Given the description of an element on the screen output the (x, y) to click on. 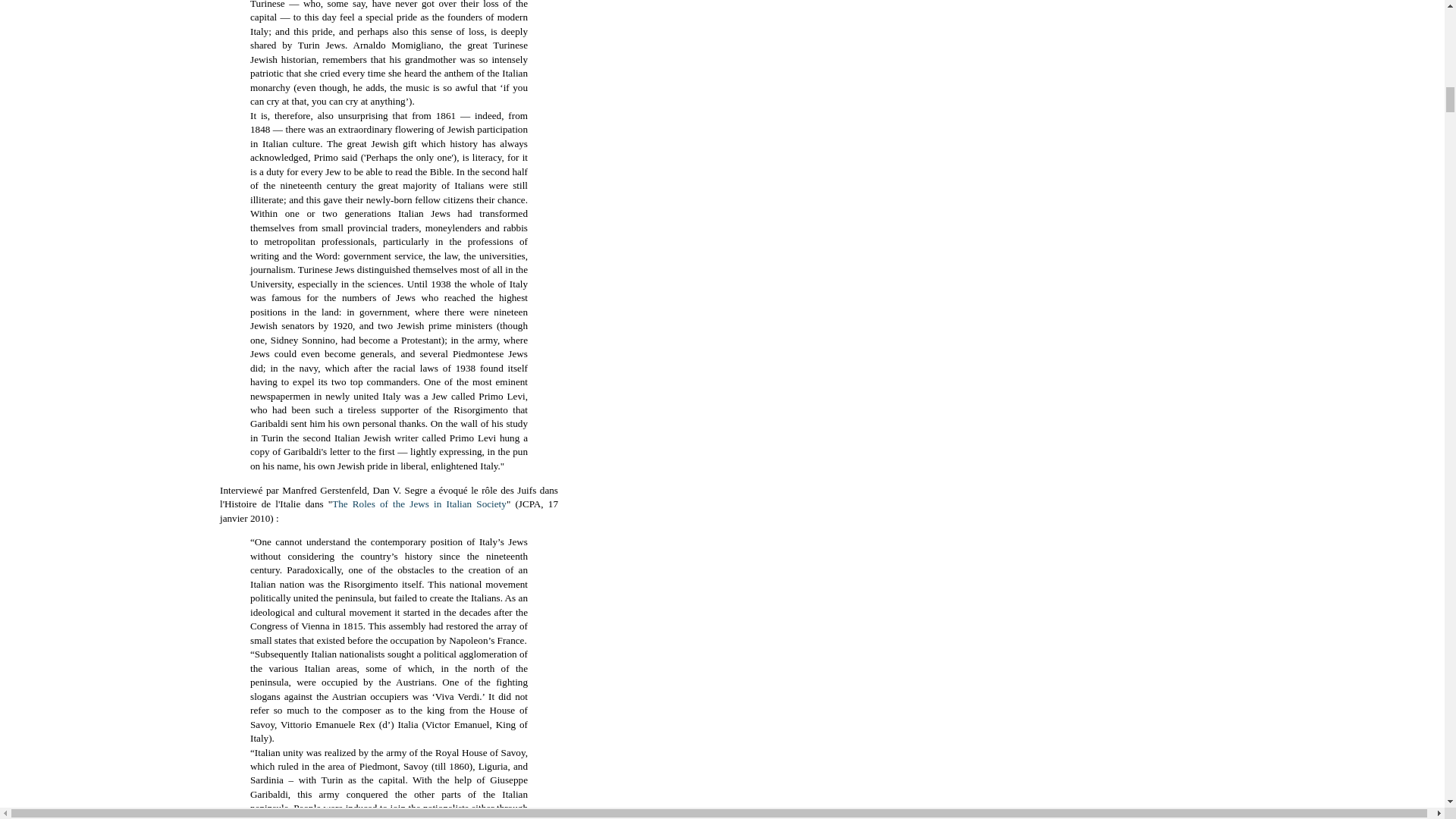
The Roles of the Jews in Italian Society (418, 503)
